Given the description of an element on the screen output the (x, y) to click on. 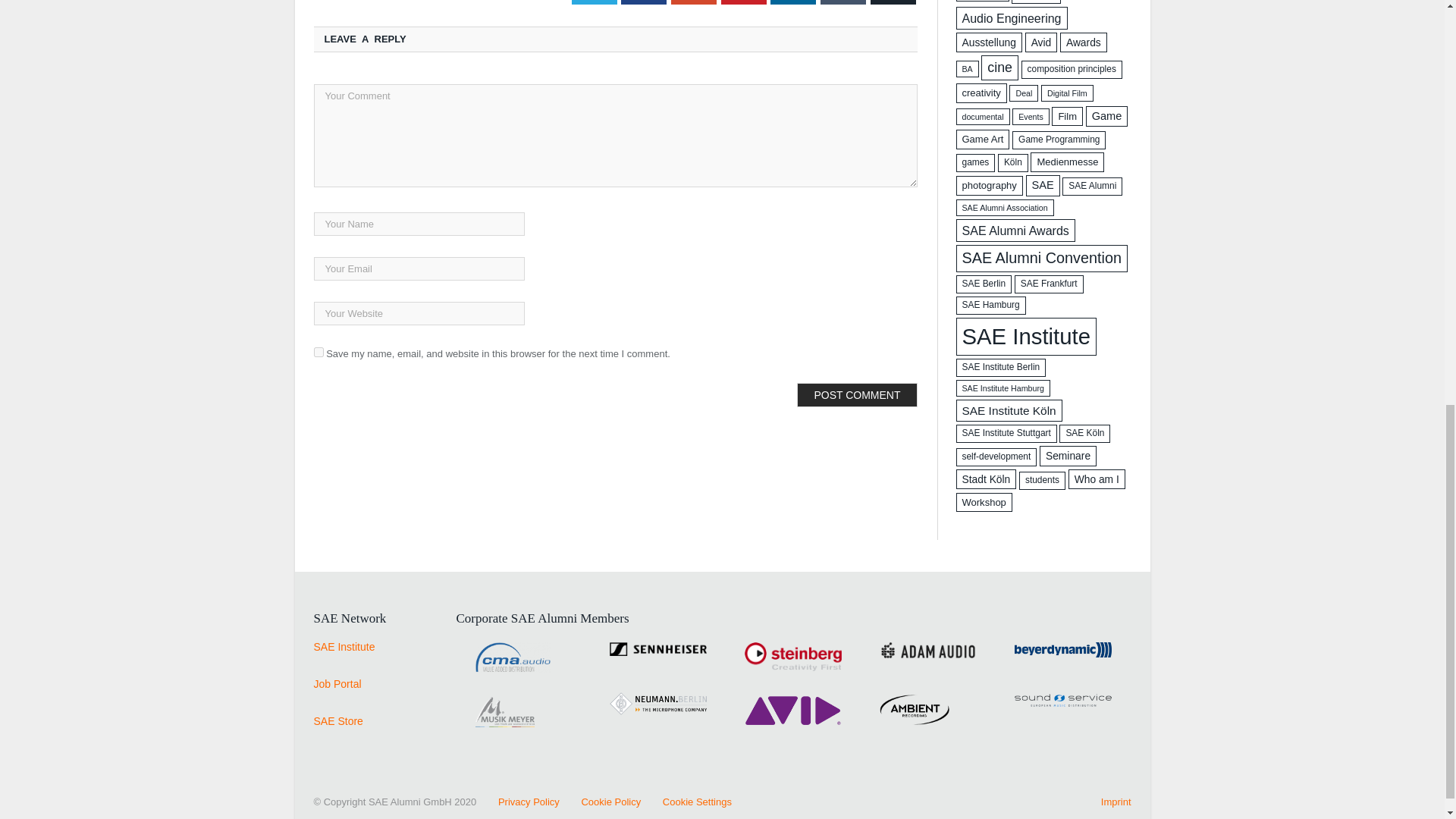
Post Comment (856, 395)
yes (318, 352)
Cookie Policy (601, 801)
Privacy Policy (519, 801)
